Given the description of an element on the screen output the (x, y) to click on. 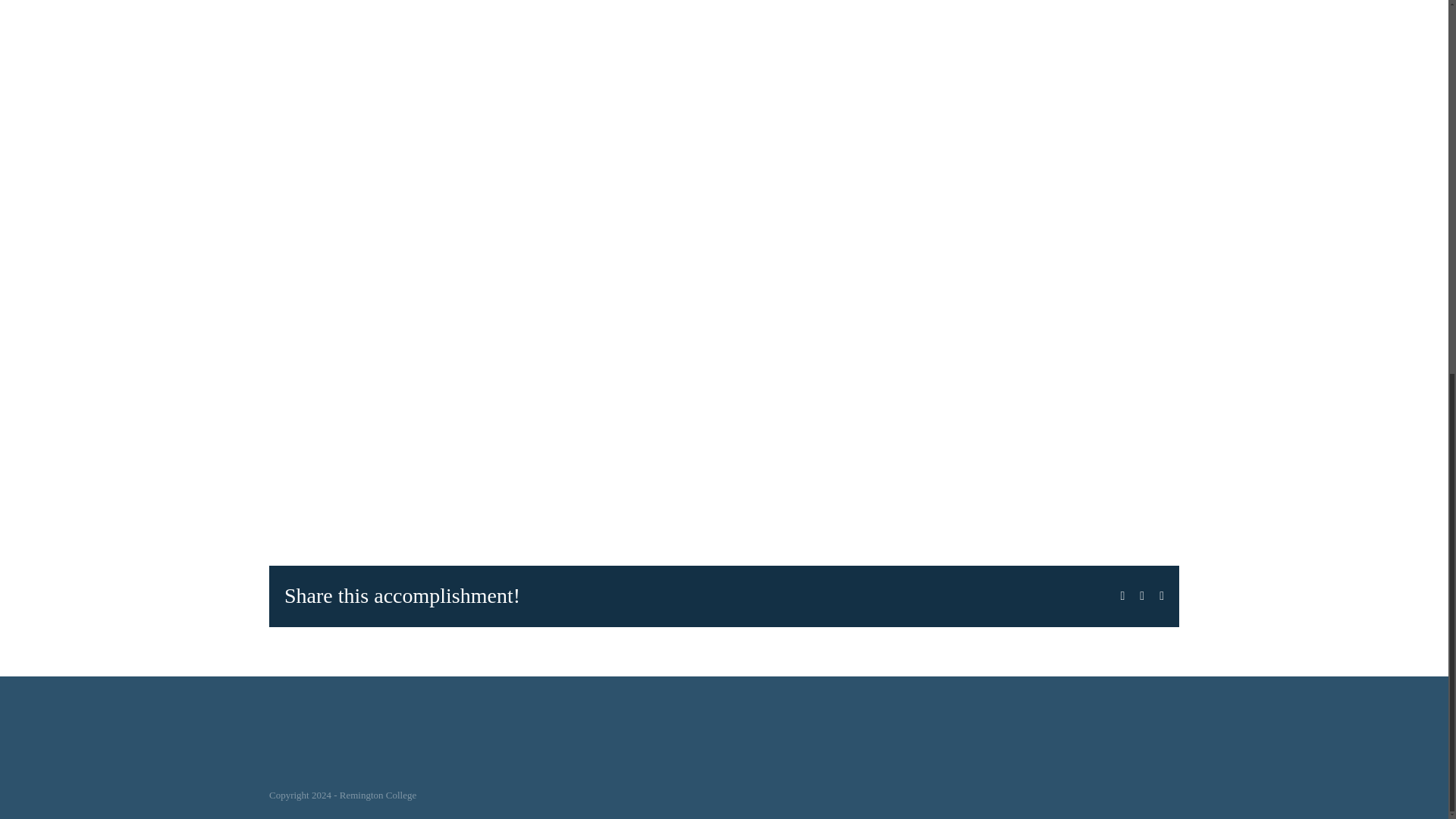
LinkedIn (1160, 595)
Twitter (1142, 595)
Twitter (1142, 595)
Facebook (1121, 595)
Facebook (1121, 595)
LinkedIn (1160, 595)
